Given the description of an element on the screen output the (x, y) to click on. 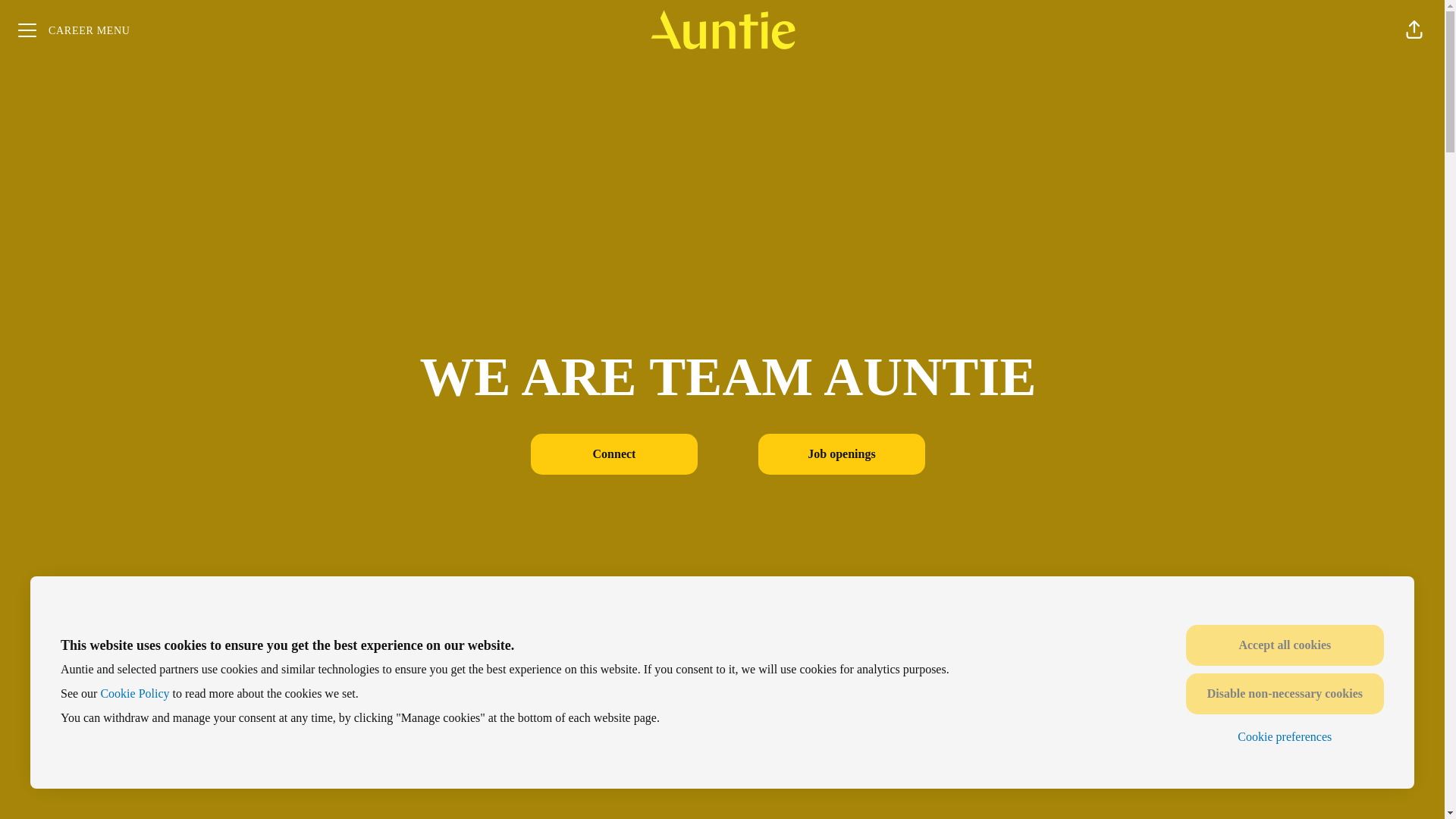
Cookie Policy (134, 693)
Accept all cookies (1285, 644)
Cookie preferences (1284, 736)
Job openings (841, 454)
CAREER MENU (73, 30)
Career menu (73, 30)
Disable non-necessary cookies (1285, 693)
Connect (614, 454)
Scroll to content (727, 772)
Share page (1414, 30)
